Given the description of an element on the screen output the (x, y) to click on. 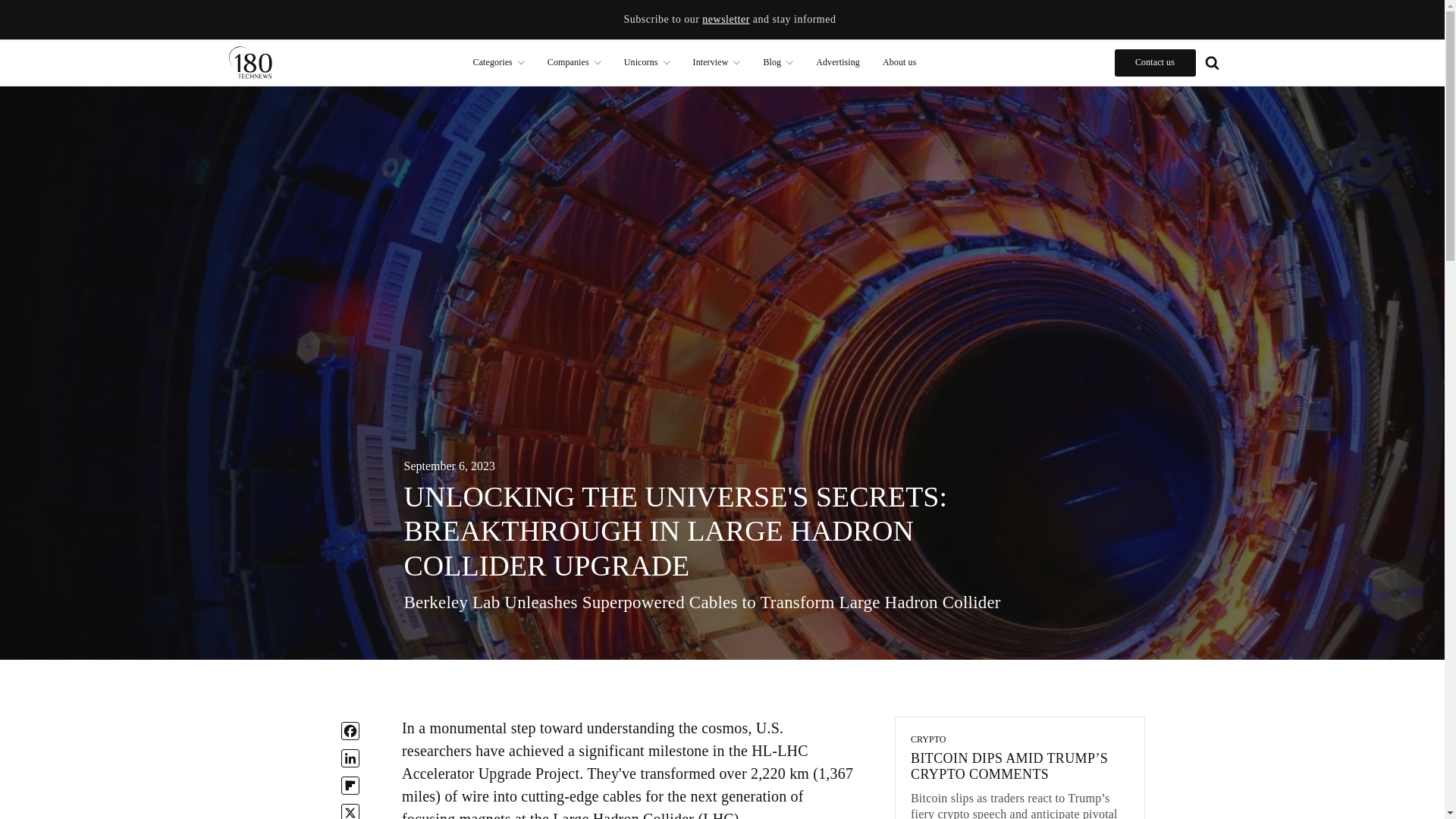
Facebook (349, 730)
X (349, 811)
newsletter (725, 19)
Flipboard (349, 785)
Categories (498, 62)
Contact us (1155, 62)
Linkedin (349, 758)
Advertising (837, 62)
Unicorns (646, 62)
Blog (778, 62)
Companies (573, 62)
About us (898, 62)
Interview (716, 62)
